Given the description of an element on the screen output the (x, y) to click on. 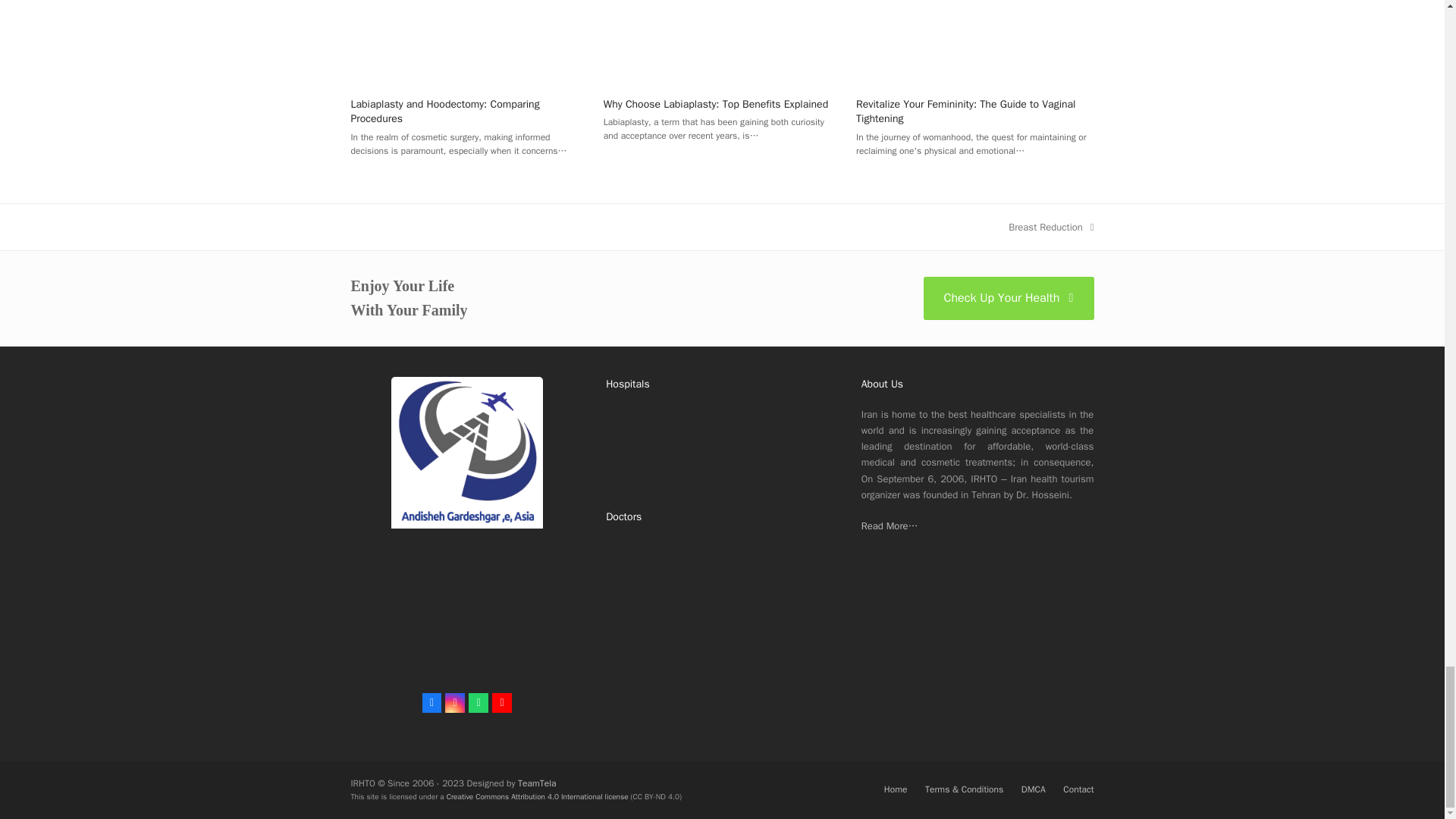
Why Choose Labiaplasty: Top Benefits Explained (722, 17)
Labiaplasty and Hoodectomy: Comparing Procedures (469, 17)
Revitalize Your Femininity: The Guide to Vaginal Tightening (974, 17)
